Given the description of an element on the screen output the (x, y) to click on. 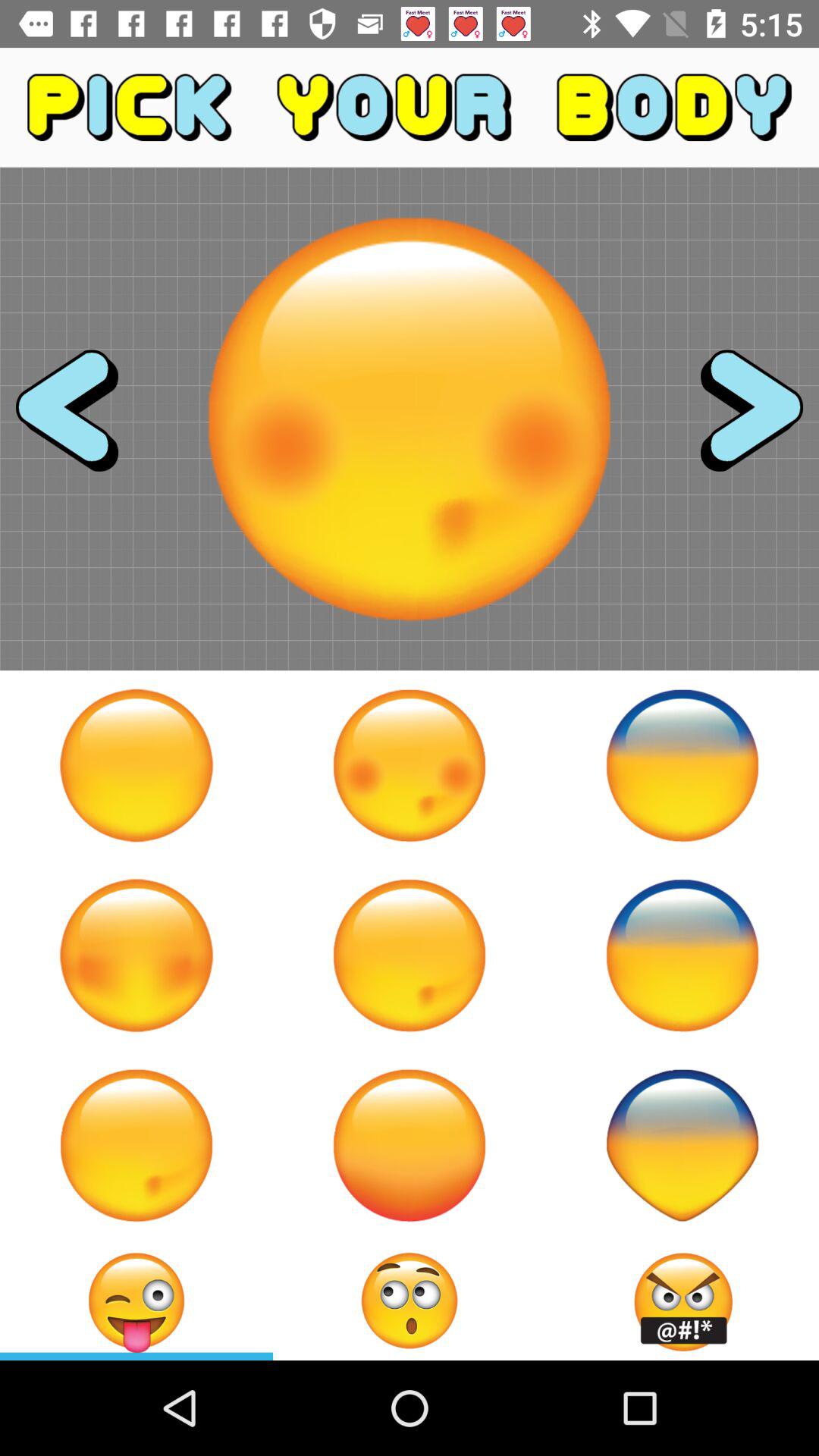
like button (136, 1145)
